Given the description of an element on the screen output the (x, y) to click on. 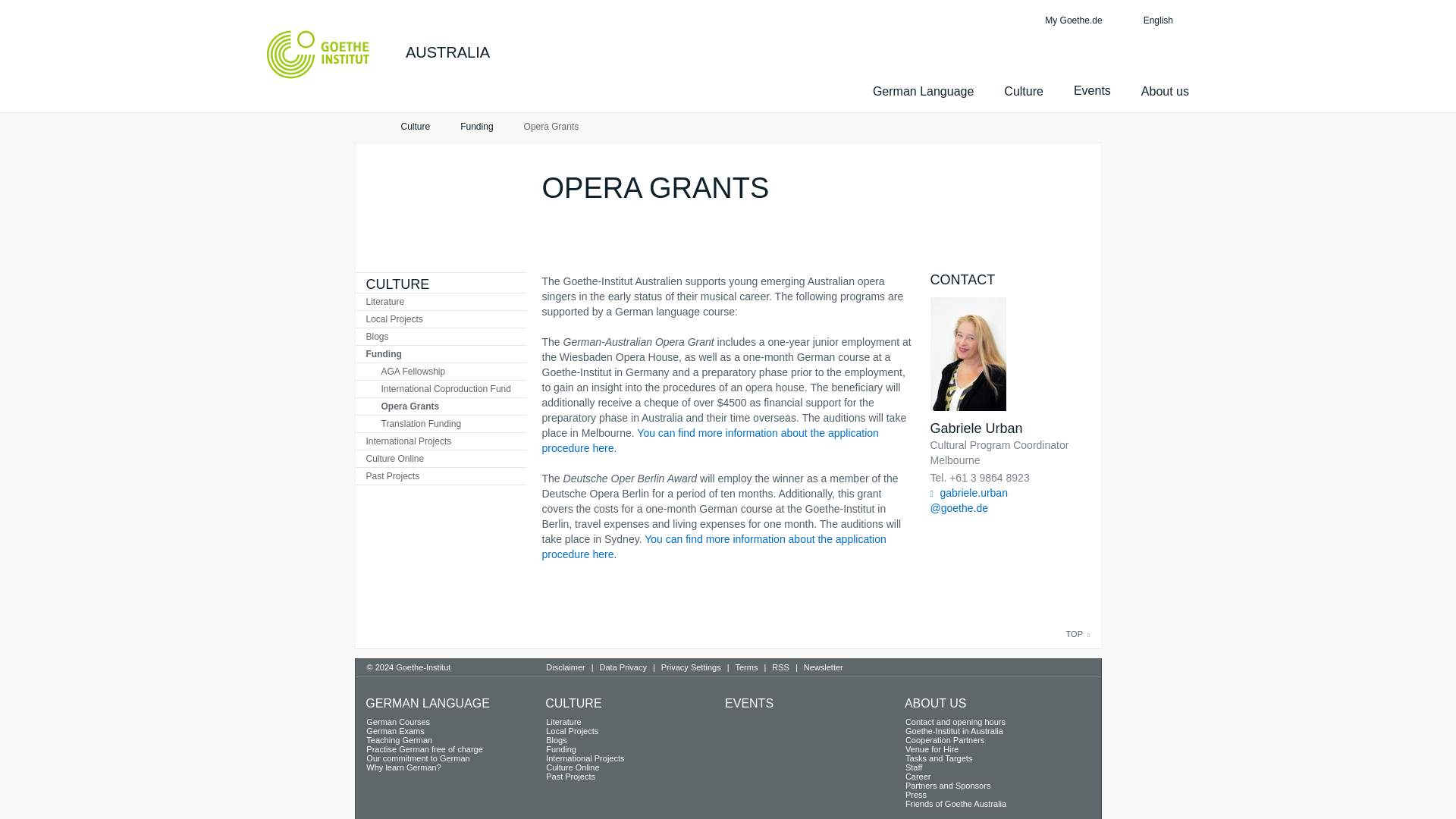
International Coproduction Fund (440, 388)
AGA Fellowship (440, 371)
Culture (414, 127)
Culture (414, 127)
Opera Grants (551, 127)
Funding (476, 127)
Literature (440, 301)
English (1165, 20)
Culture (1023, 91)
Claim Goethe Institut (317, 54)
Local Projects (440, 319)
Blogs (440, 336)
My Goethe.de (1070, 20)
